Given the description of an element on the screen output the (x, y) to click on. 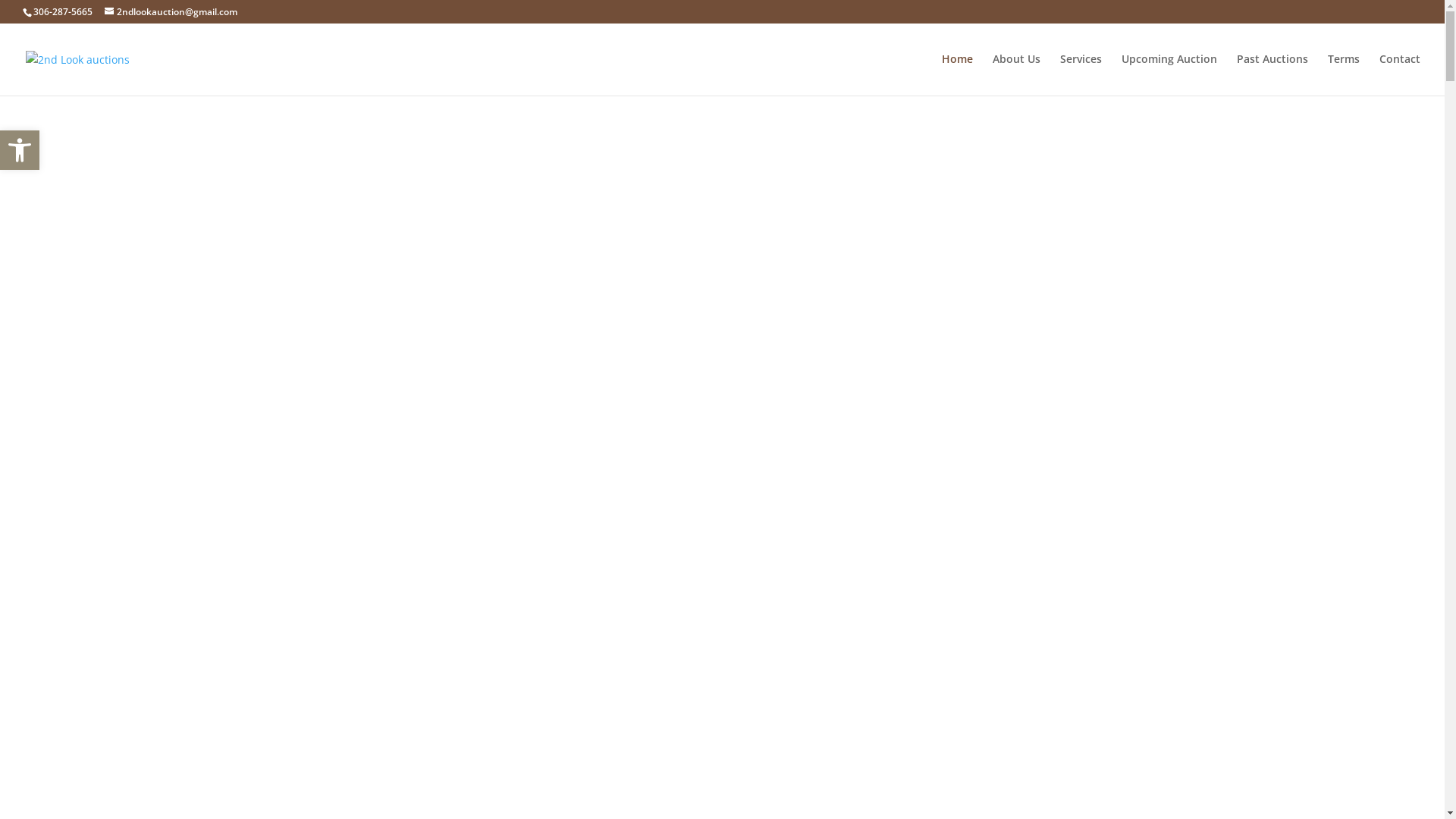
Past Auctions Element type: text (1272, 74)
About Us Element type: text (1016, 74)
Open toolbar
Accessibility Tools Element type: text (19, 149)
Home Element type: text (956, 74)
Terms Element type: text (1343, 74)
Contact Element type: text (1399, 74)
2ndlookauction@gmail.com Element type: text (170, 11)
Upcoming Auction Element type: text (1169, 74)
Services Element type: text (1080, 74)
